Given the description of an element on the screen output the (x, y) to click on. 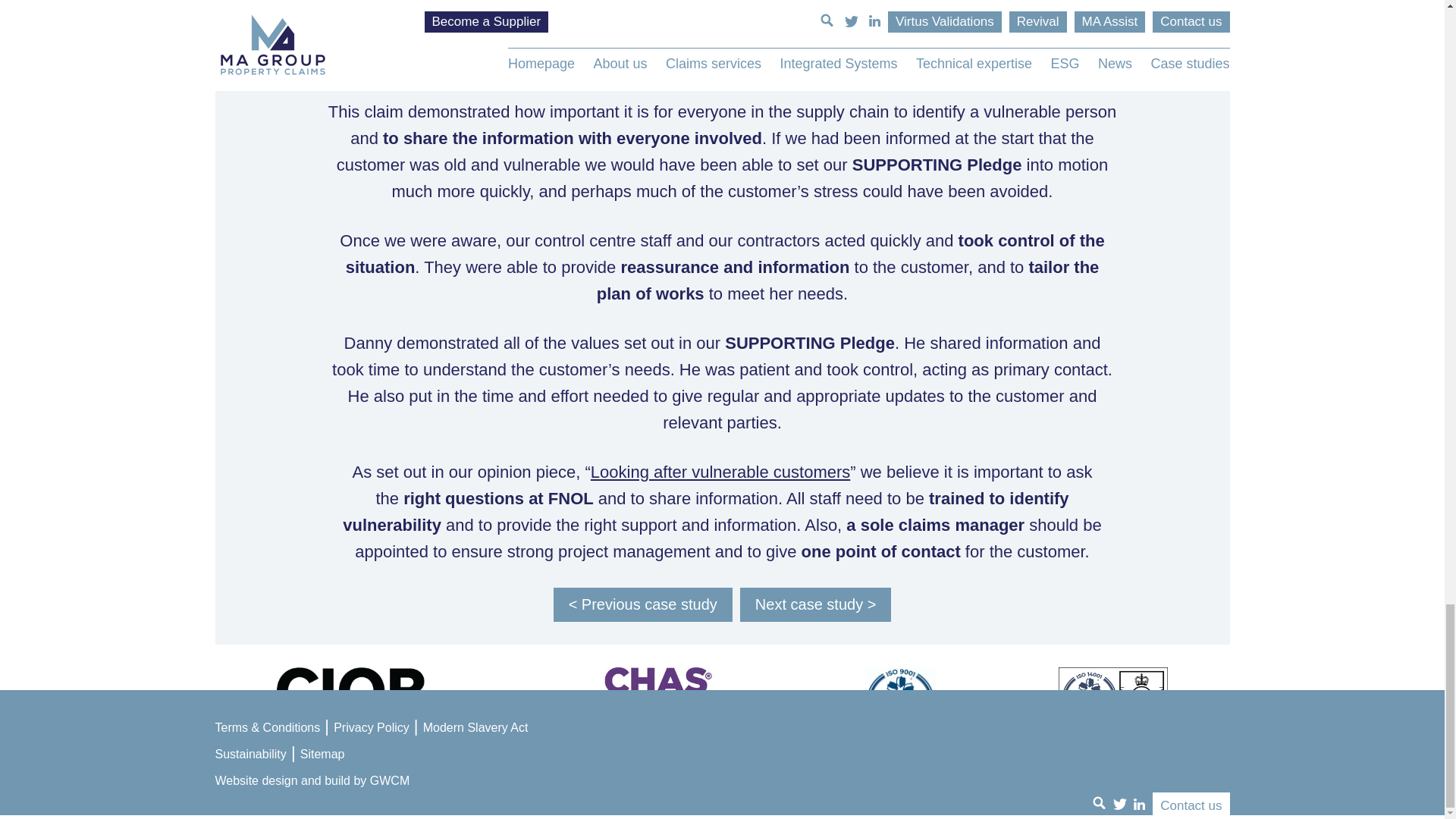
Looking after vulnerable customers (720, 471)
